Given the description of an element on the screen output the (x, y) to click on. 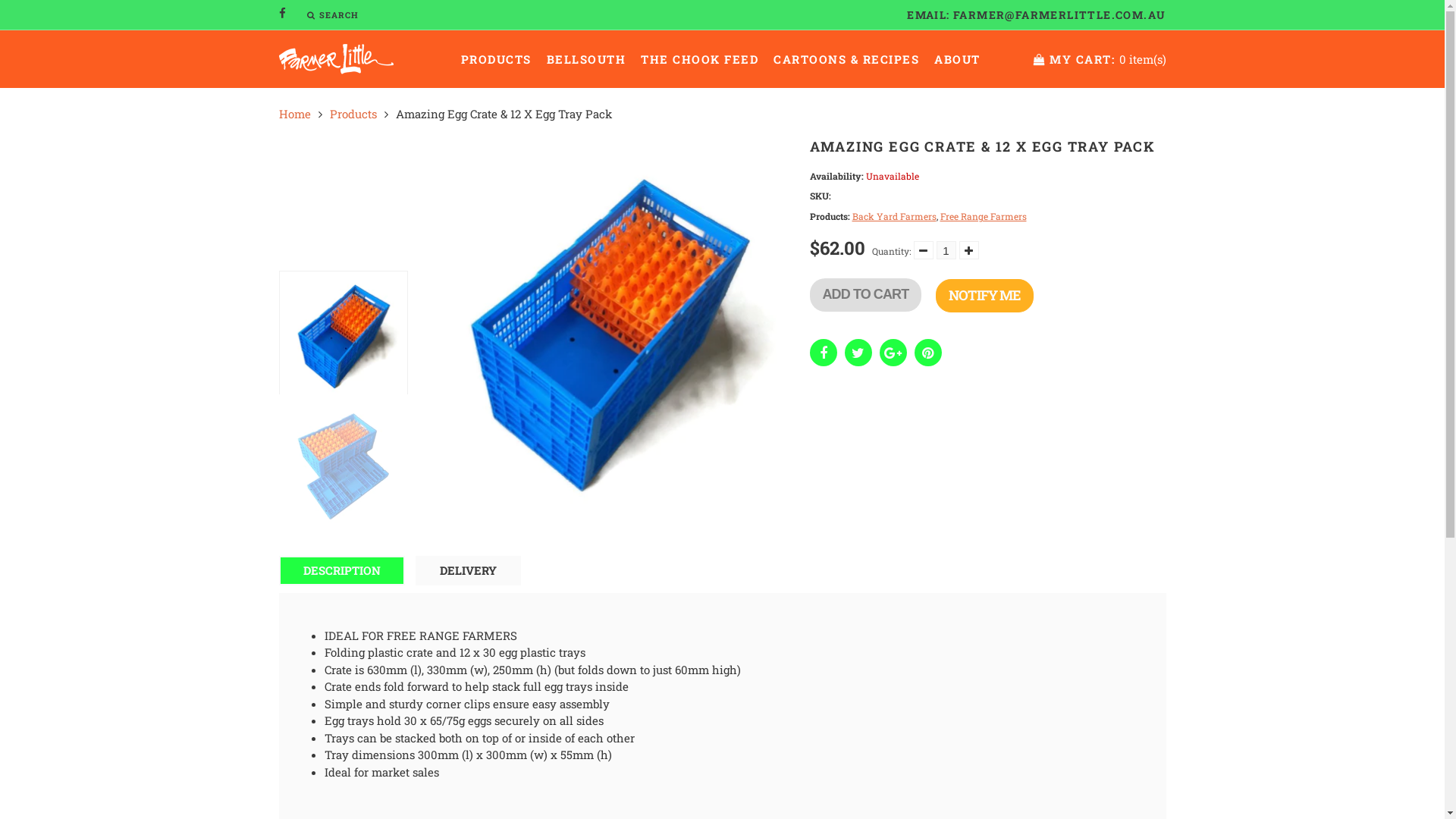
Share Element type: hover (892, 351)
Back Yard Farmers Element type: text (894, 216)
Share Element type: hover (823, 351)
PRODUCTS Element type: text (496, 59)
ABOUT Element type: text (957, 59)
CARTOONS & RECIPES Element type: text (846, 59)
ADD TO CART Element type: text (865, 294)
Home Element type: text (294, 113)
MY CART: 0 item(s) Element type: text (1098, 58)
Share Element type: hover (858, 351)
Free Range Farmers Element type: text (983, 216)
BELLSOUTH Element type: text (585, 59)
Products Element type: text (352, 113)
Share Element type: hover (927, 351)
THE CHOOK FEED Element type: text (699, 59)
